Given the description of an element on the screen output the (x, y) to click on. 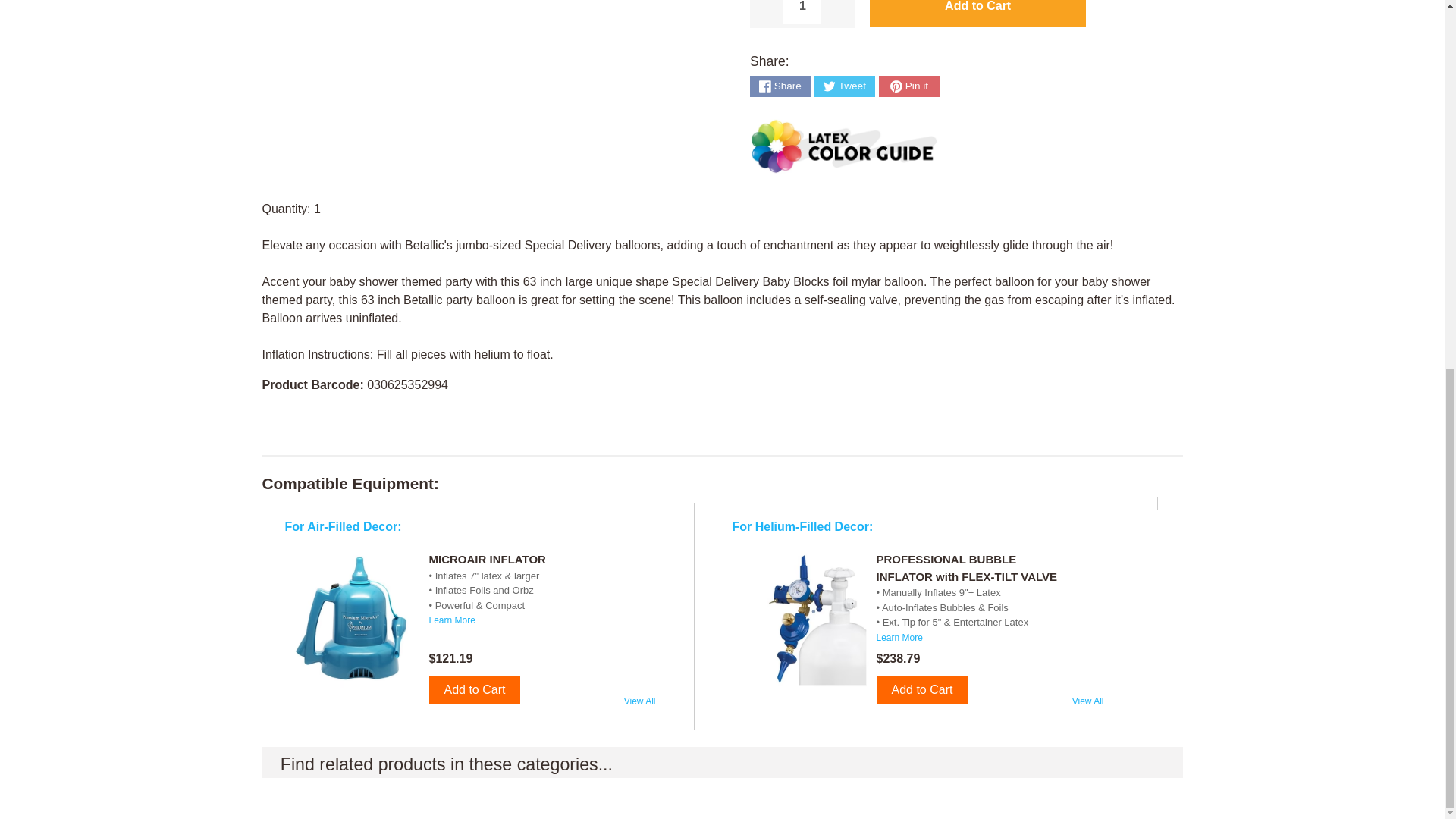
Share on Facebook (779, 86)
Tweet on Twitter (844, 86)
Add to Cart (922, 689)
Add to Cart (475, 689)
Pin on Pinterest (909, 86)
1 (802, 12)
